Given the description of an element on the screen output the (x, y) to click on. 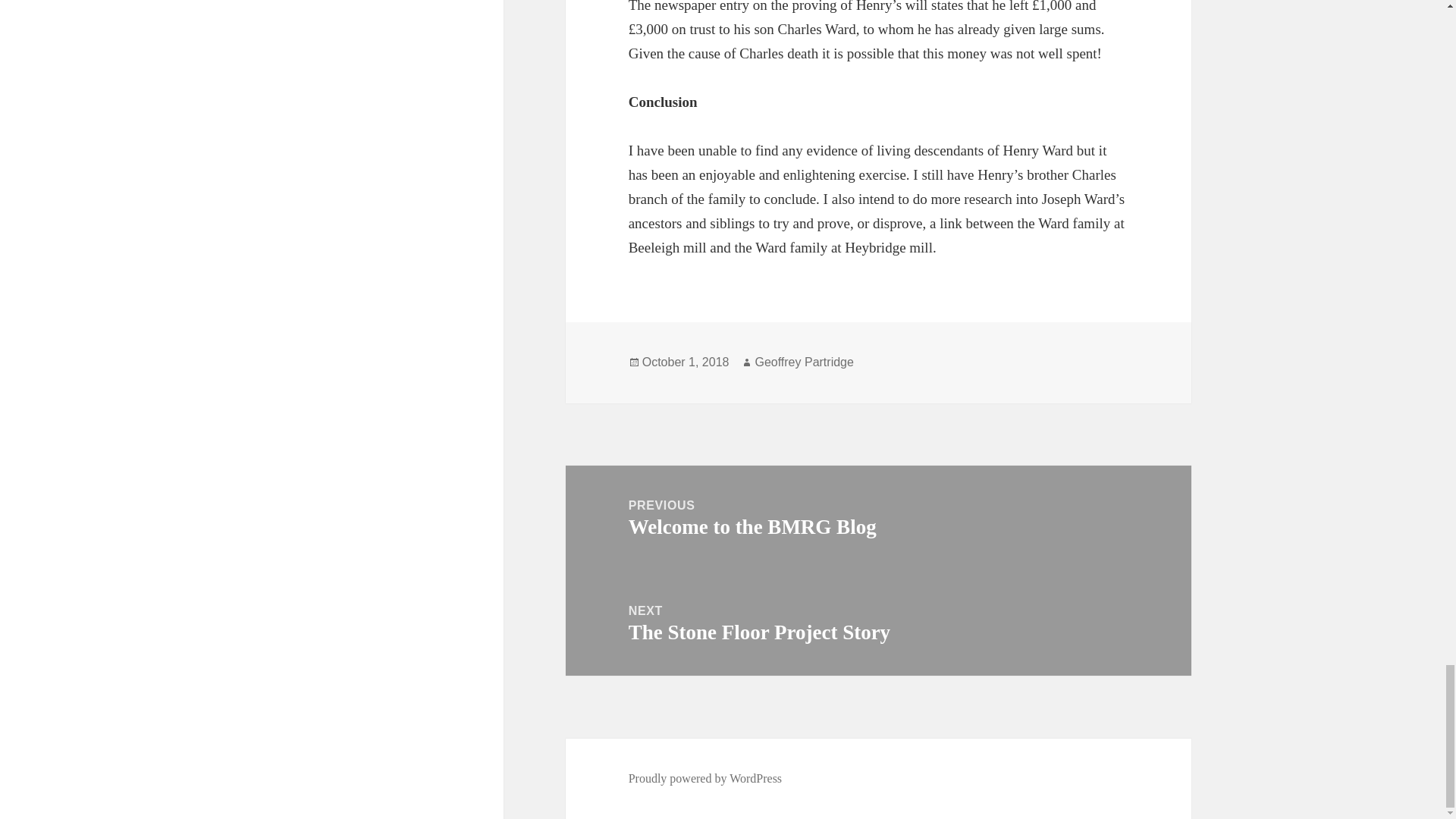
Geoffrey Partridge (803, 362)
October 1, 2018 (685, 362)
Proudly powered by WordPress (878, 623)
